Given the description of an element on the screen output the (x, y) to click on. 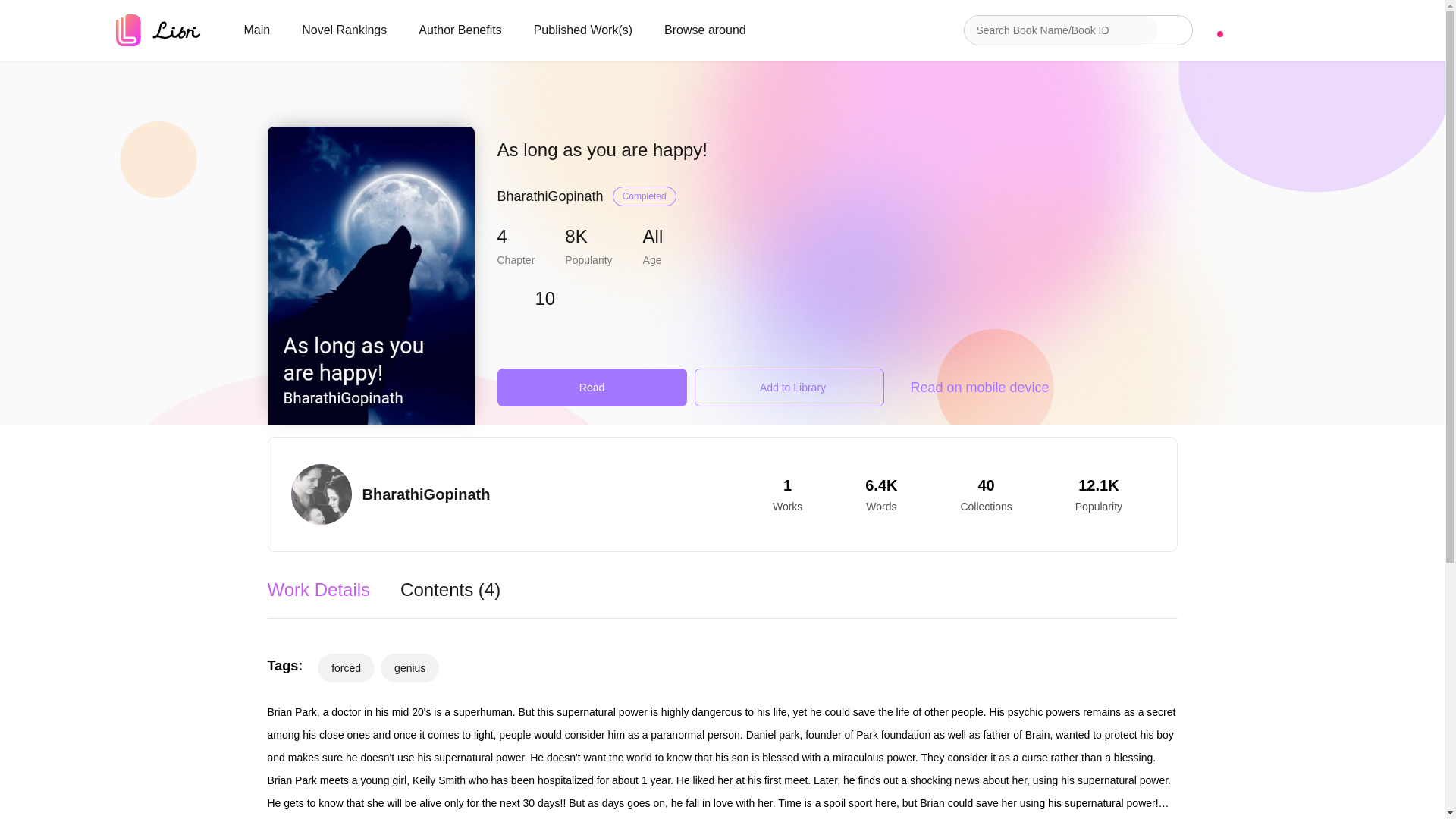
Add to Library (788, 387)
Read (592, 387)
Browse around (704, 30)
Novel Rankings (343, 30)
Main (256, 30)
Download (1264, 30)
Read on mobile device (975, 387)
Author Benefits (459, 30)
